Given the description of an element on the screen output the (x, y) to click on. 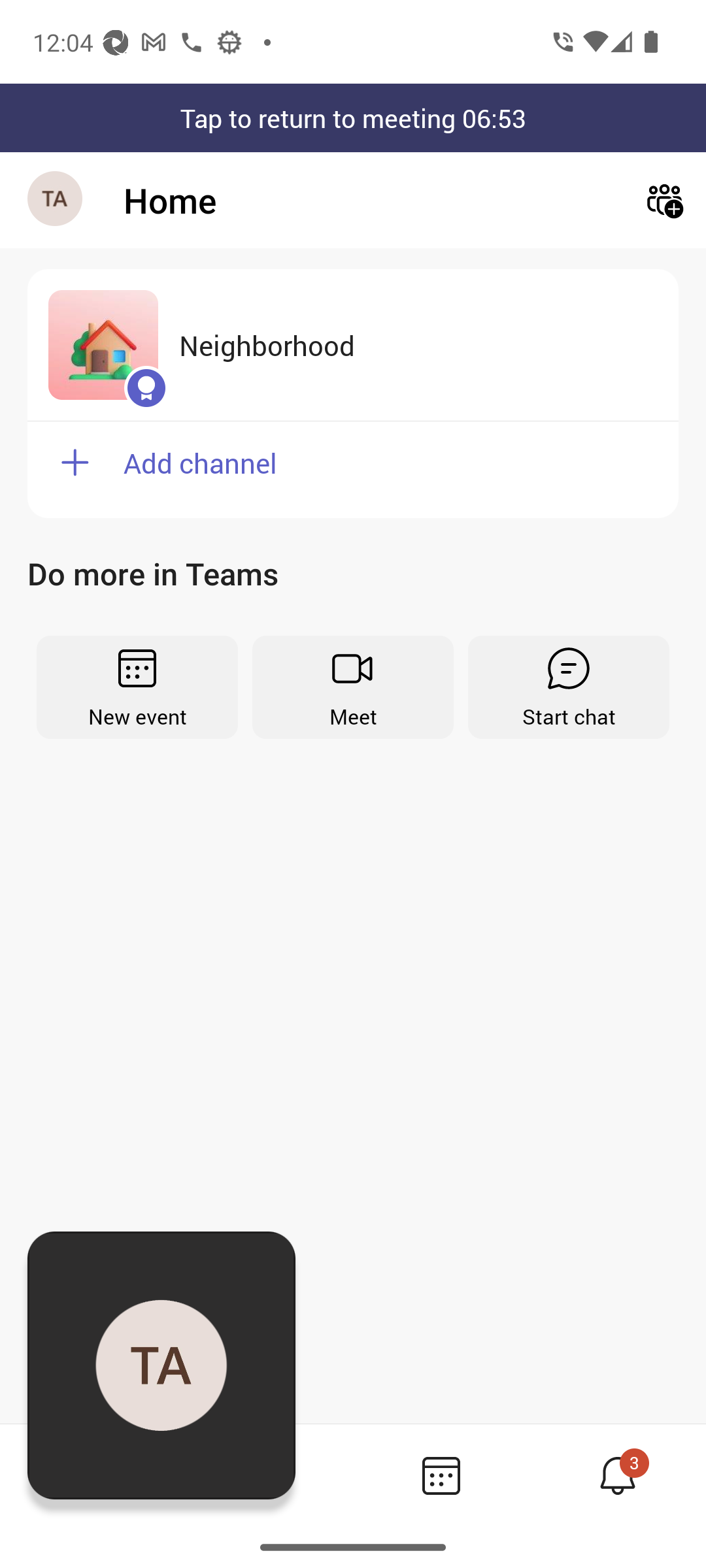
Tap to return to meeting 06:52 (353, 117)
Create new community (664, 199)
Navigation (56, 199)
Neighborhood Community. Neighborhood (352, 345)
New event (136, 686)
Meet (352, 686)
Start chat (568, 686)
Calendar tab,3 of 4, not selected (441, 1475)
Activity tab,4 of 4, not selected, 3 new 3 (617, 1475)
